Given the description of an element on the screen output the (x, y) to click on. 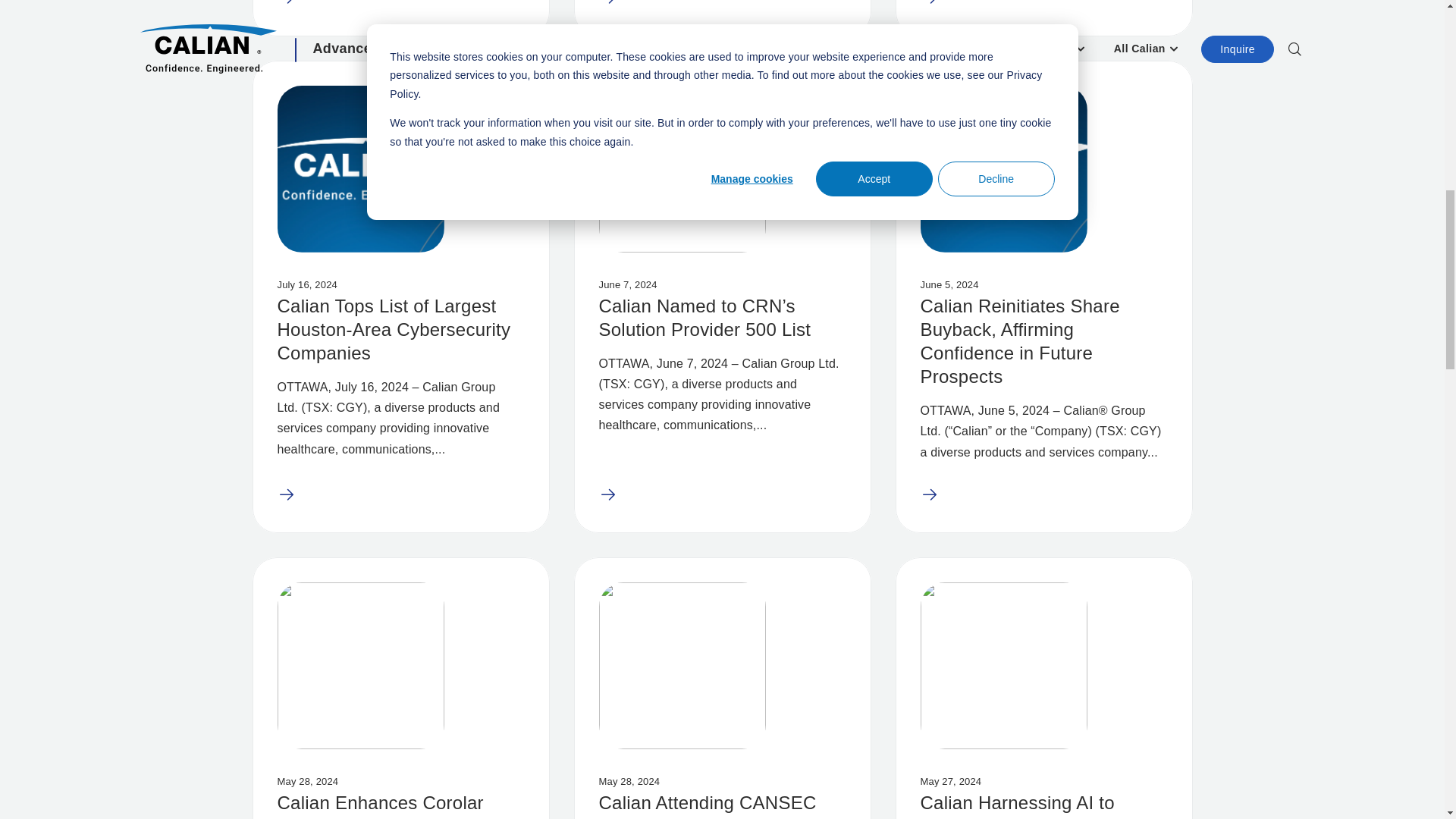
Calian Reports Results for the Third Quarter (399, 18)
